Given the description of an element on the screen output the (x, y) to click on. 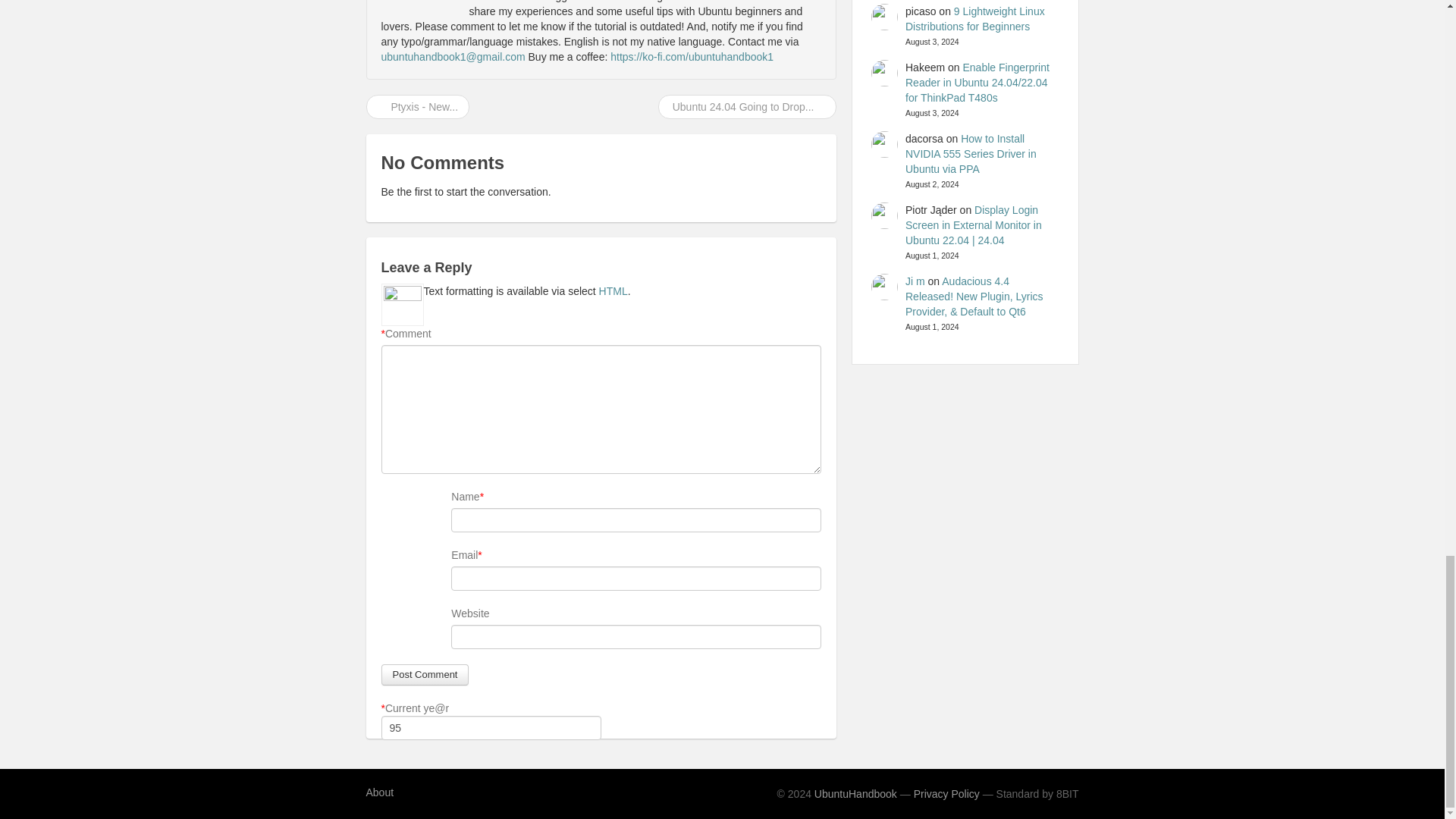
 Ptyxis - New... (417, 106)
Ubuntu 24.04 Going to Drop the Games from Installer (747, 106)
95 (490, 727)
Post Comment (424, 674)
